Given the description of an element on the screen output the (x, y) to click on. 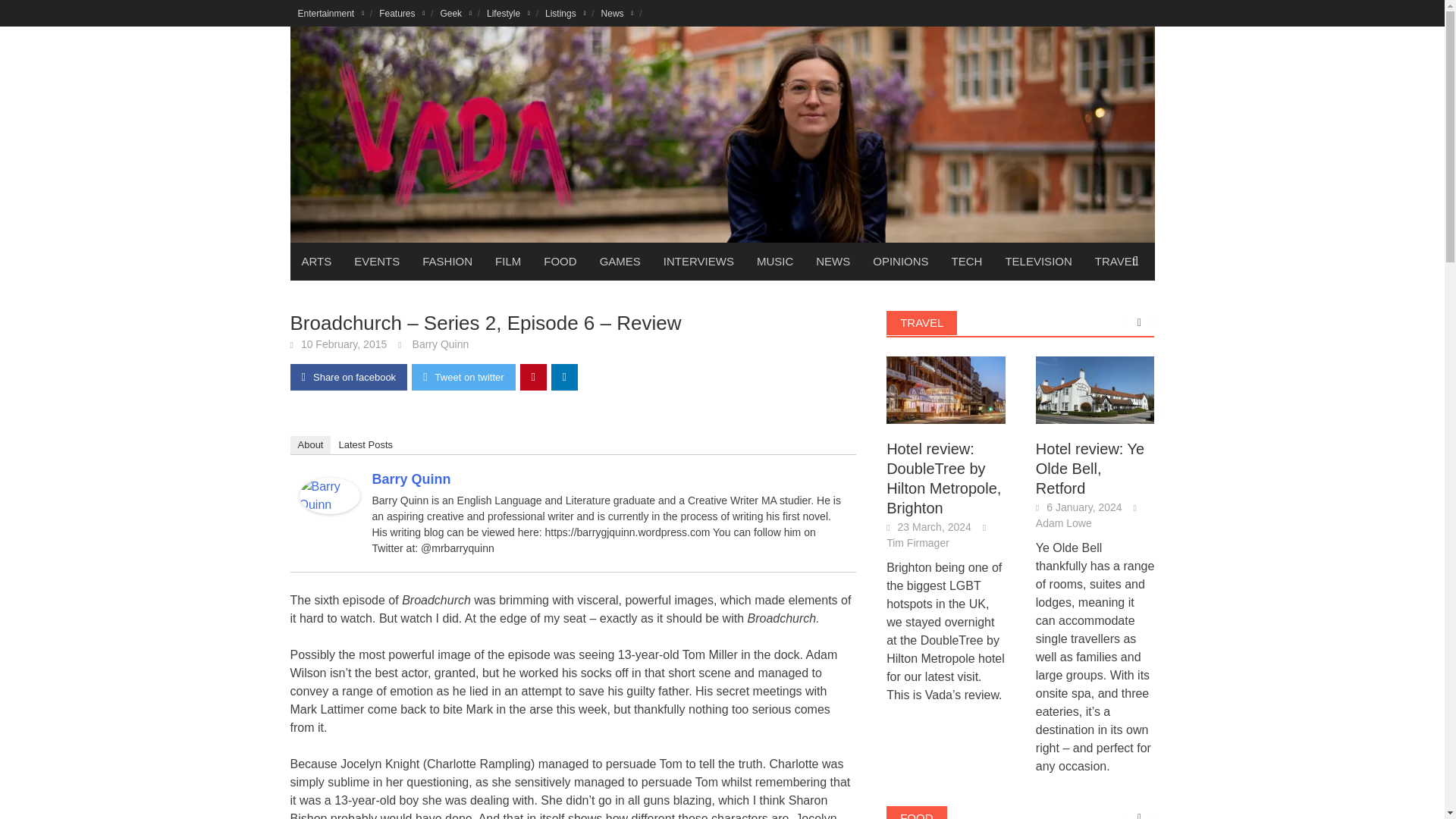
Features (401, 13)
Hotel review: Ye Olde Bell, Retford (1094, 389)
Listings (565, 13)
News (618, 13)
Lifestyle (508, 13)
Hotel review: DoubleTree by Hilton Metropole, Brighton (946, 390)
Geek (455, 13)
Barry Quinn (328, 494)
Hotel review: DoubleTree by Hilton Metropole, Brighton (946, 389)
Entertainment (330, 13)
